Given the description of an element on the screen output the (x, y) to click on. 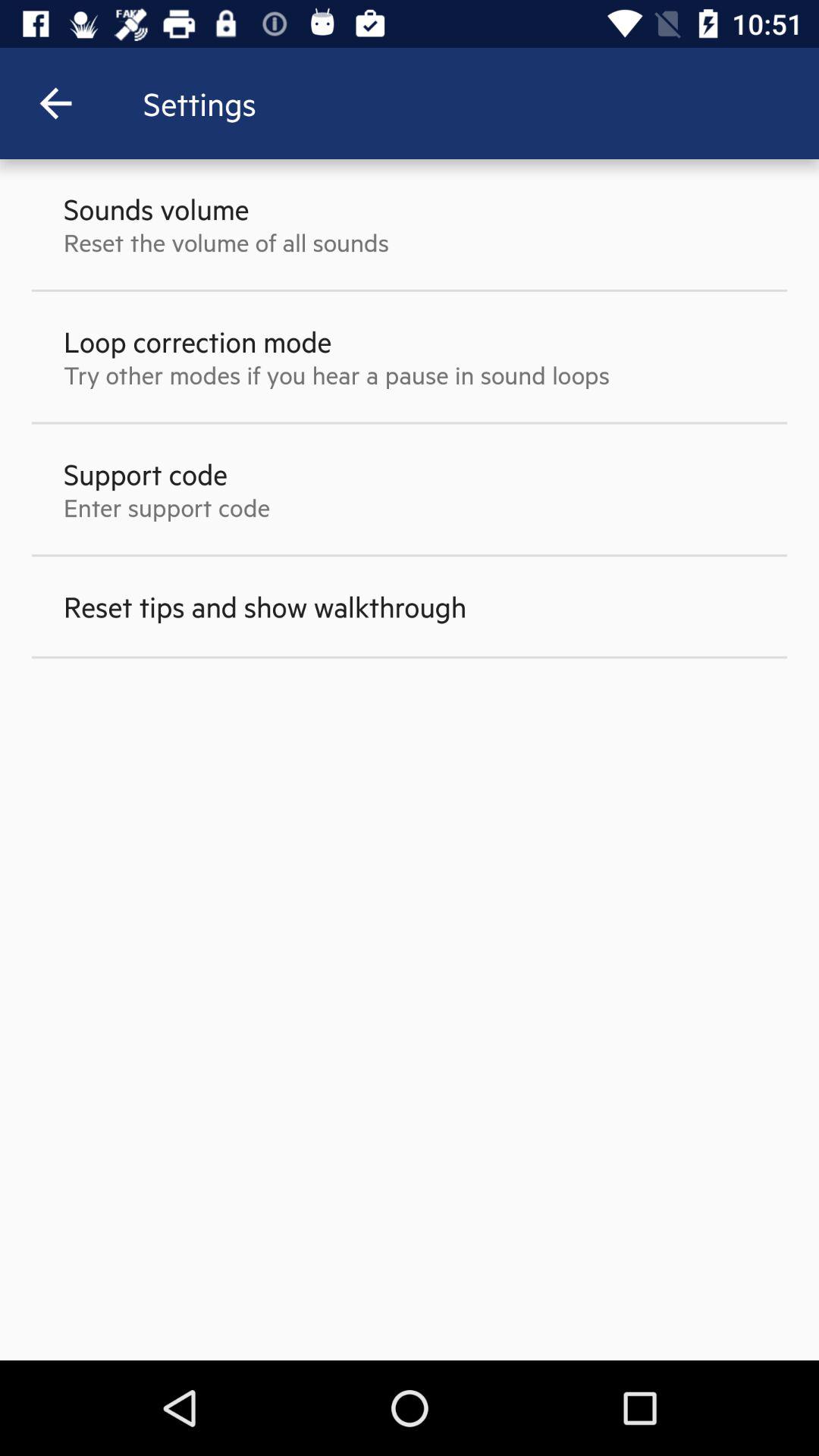
turn on reset tips and item (264, 606)
